Given the description of an element on the screen output the (x, y) to click on. 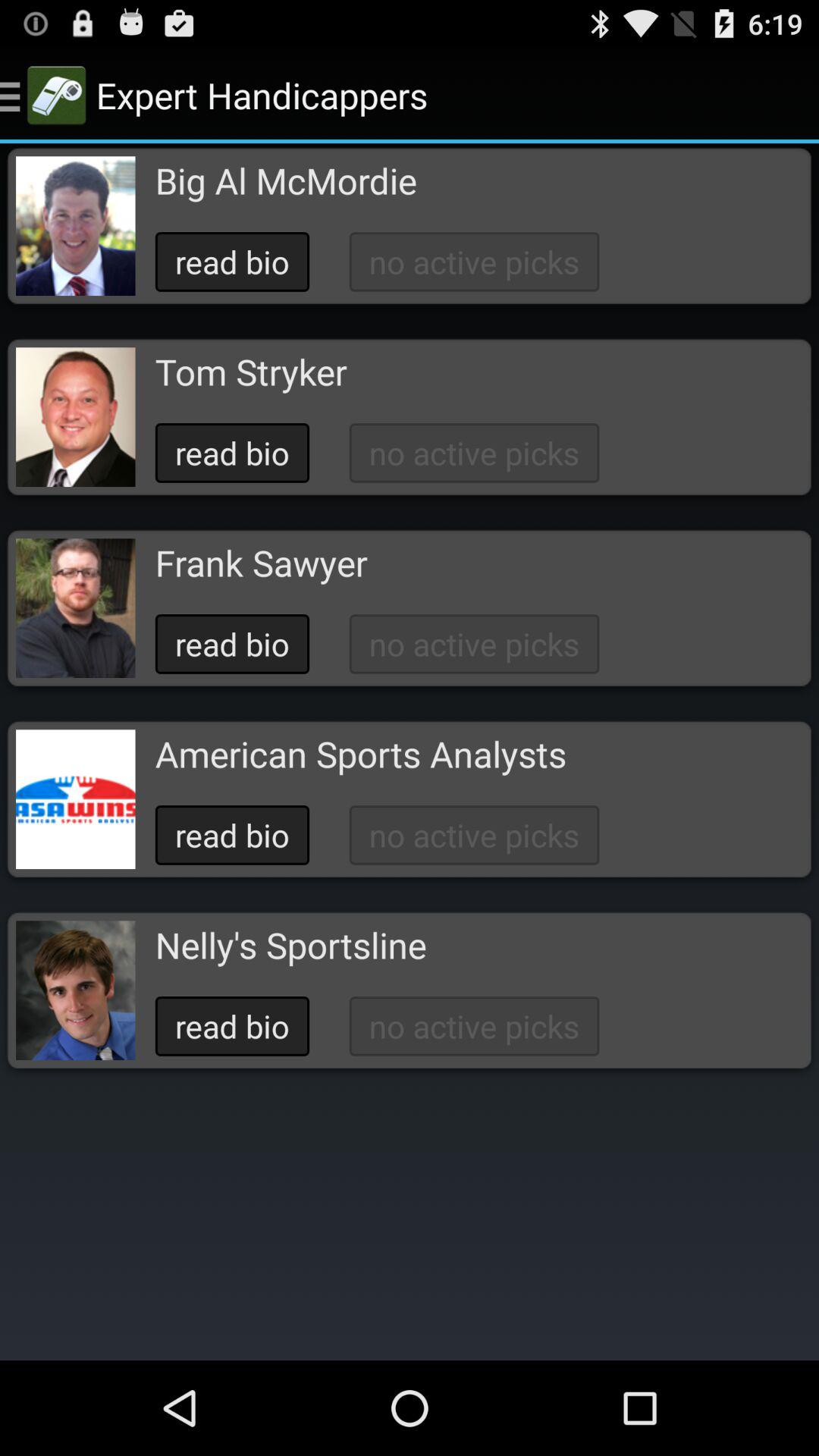
tap the button below read bio item (261, 562)
